Given the description of an element on the screen output the (x, y) to click on. 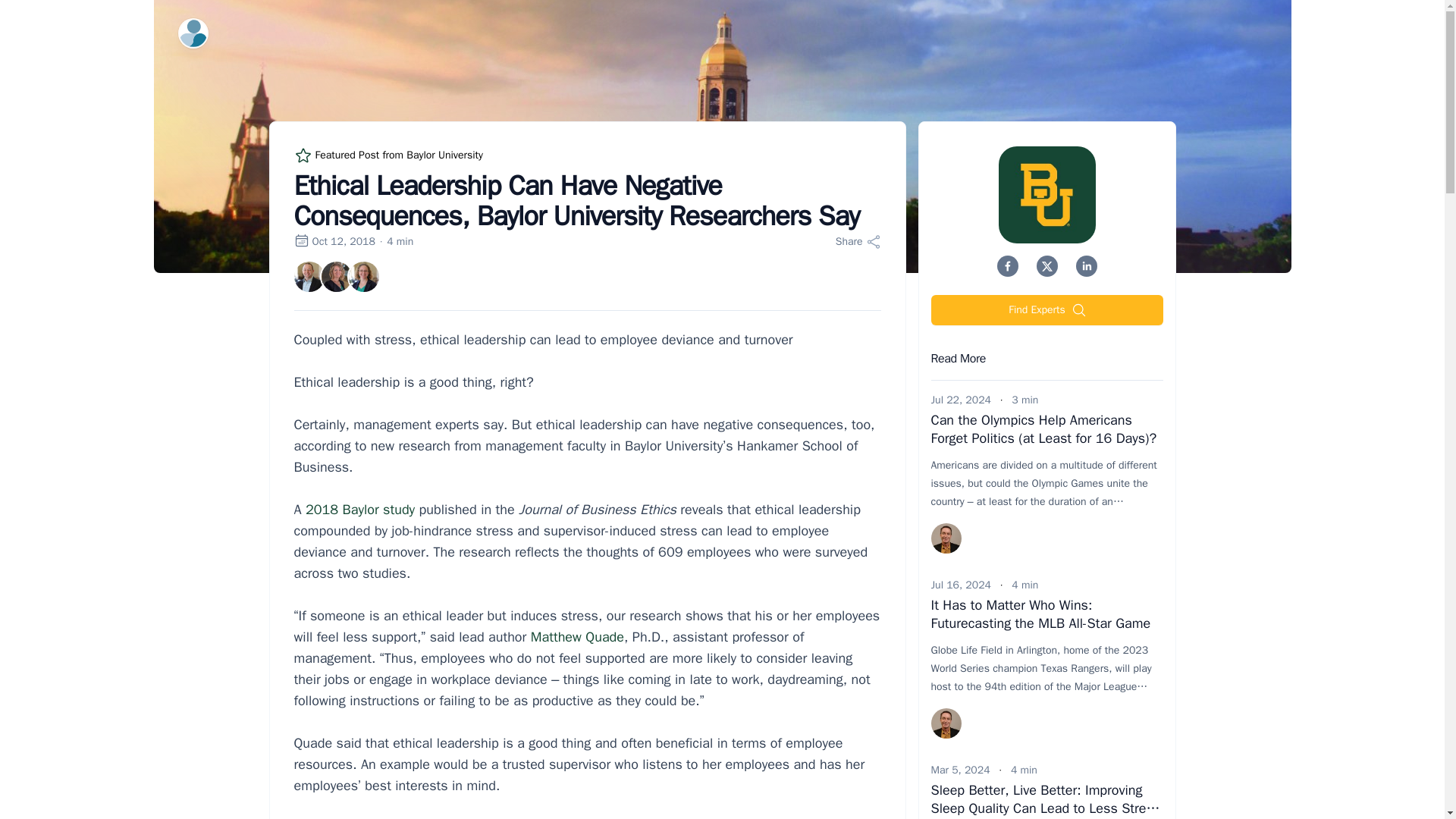
Share (857, 241)
ExpertFile Inc. (192, 33)
Matthew Quade (577, 636)
2018 Baylor study (359, 509)
Find Experts (1047, 309)
